Given the description of an element on the screen output the (x, y) to click on. 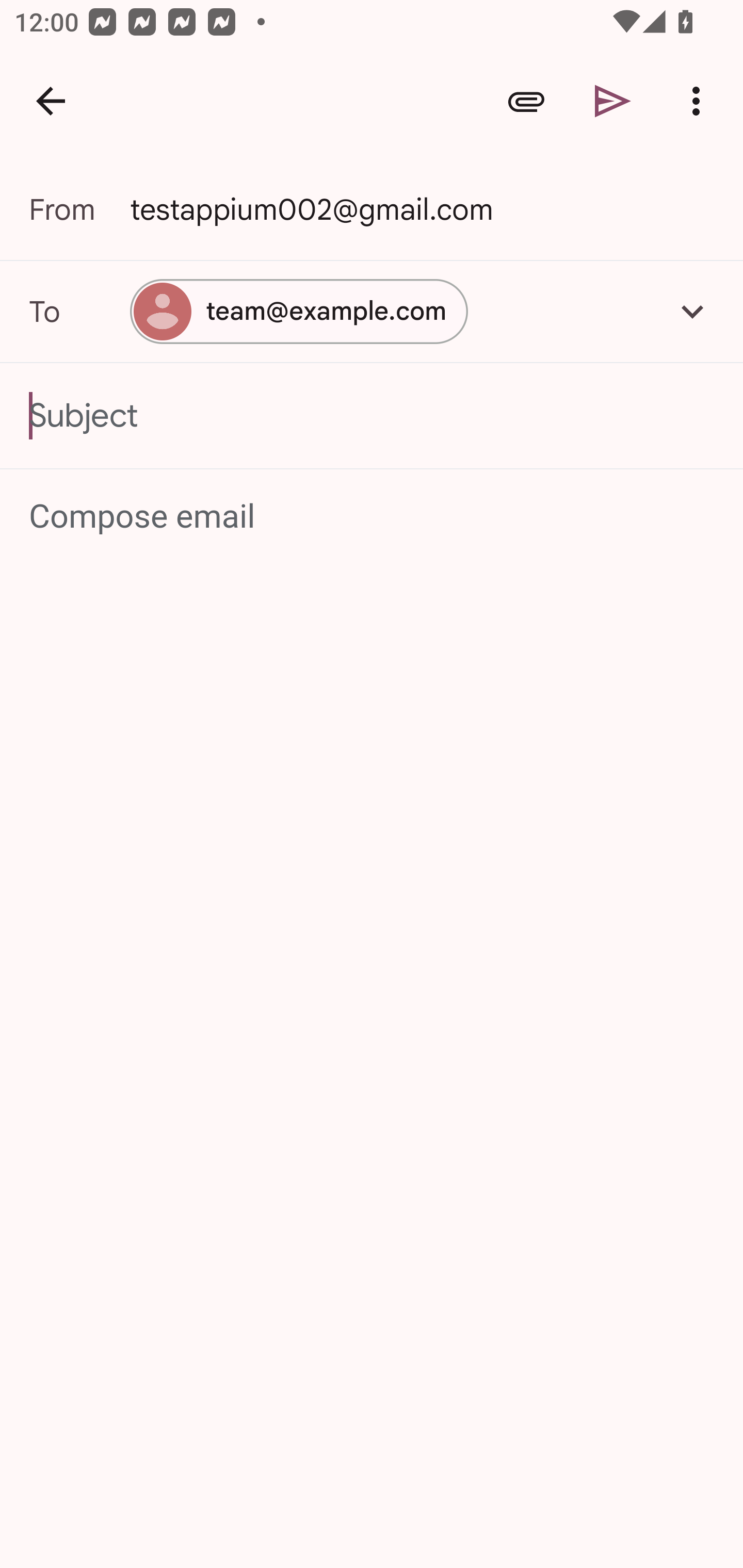
Navigate up (50, 101)
Attach file (525, 101)
Send (612, 101)
More options (699, 101)
From (79, 209)
Add Cc/Bcc (692, 311)
Subject (371, 415)
Compose email (372, 517)
